Given the description of an element on the screen output the (x, y) to click on. 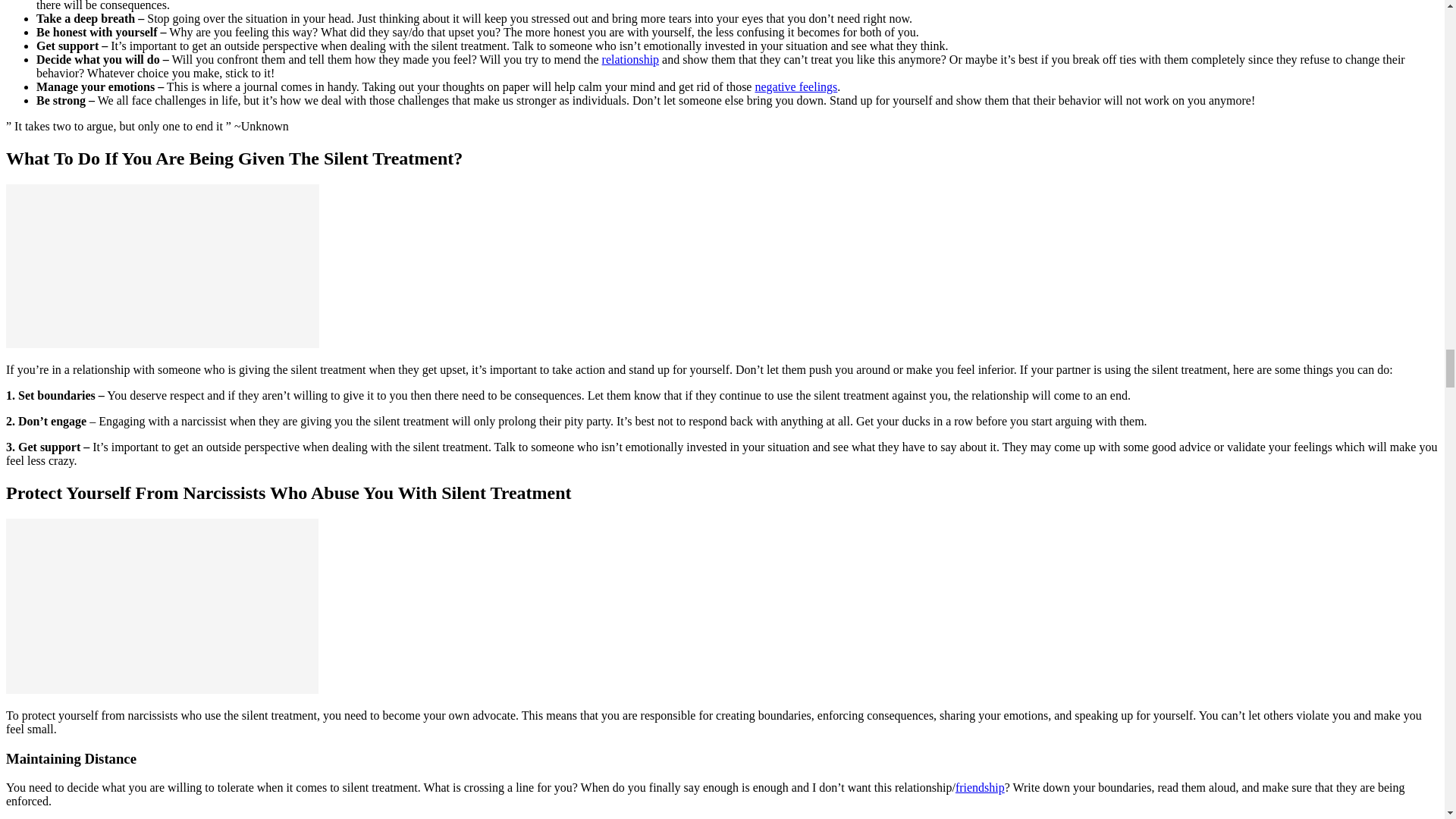
Relationship (630, 59)
Friendship (979, 787)
Negative feelings (795, 86)
